Given the description of an element on the screen output the (x, y) to click on. 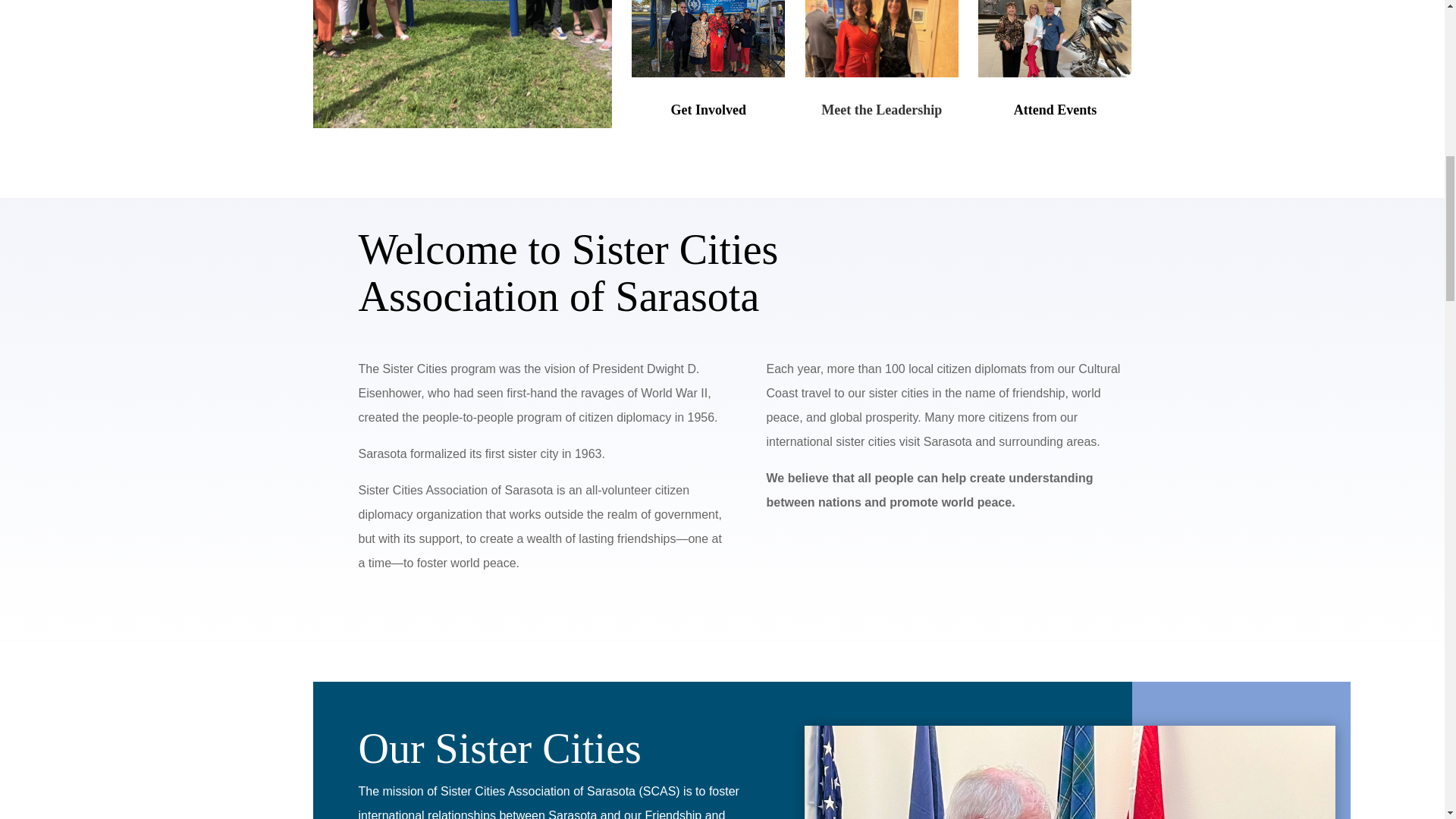
Get Involved (707, 109)
Attend Events (1055, 109)
Meet the Leadership (881, 109)
